Given the description of an element on the screen output the (x, y) to click on. 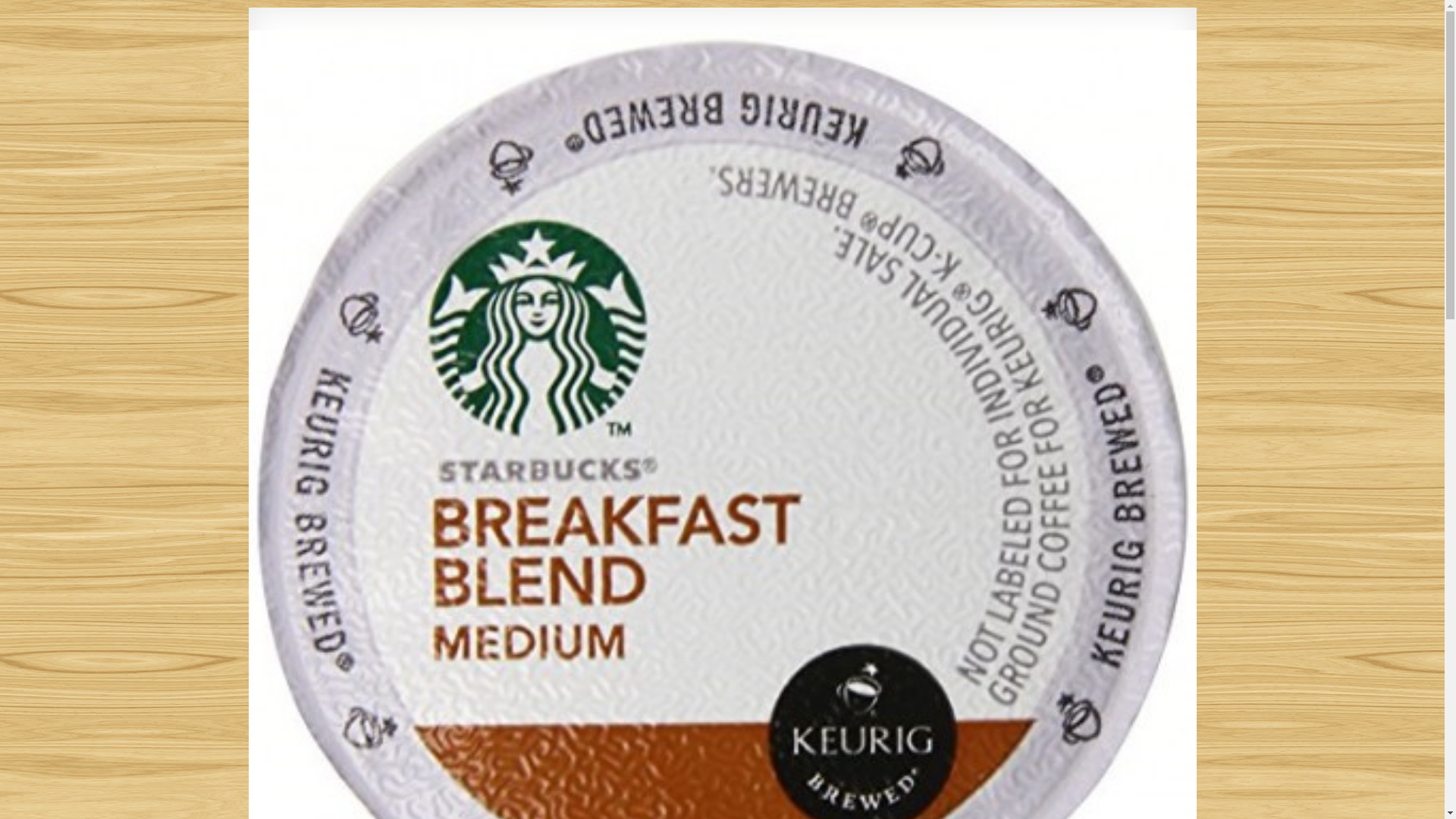
Hot Coffee Pods (326, 27)
